Given the description of an element on the screen output the (x, y) to click on. 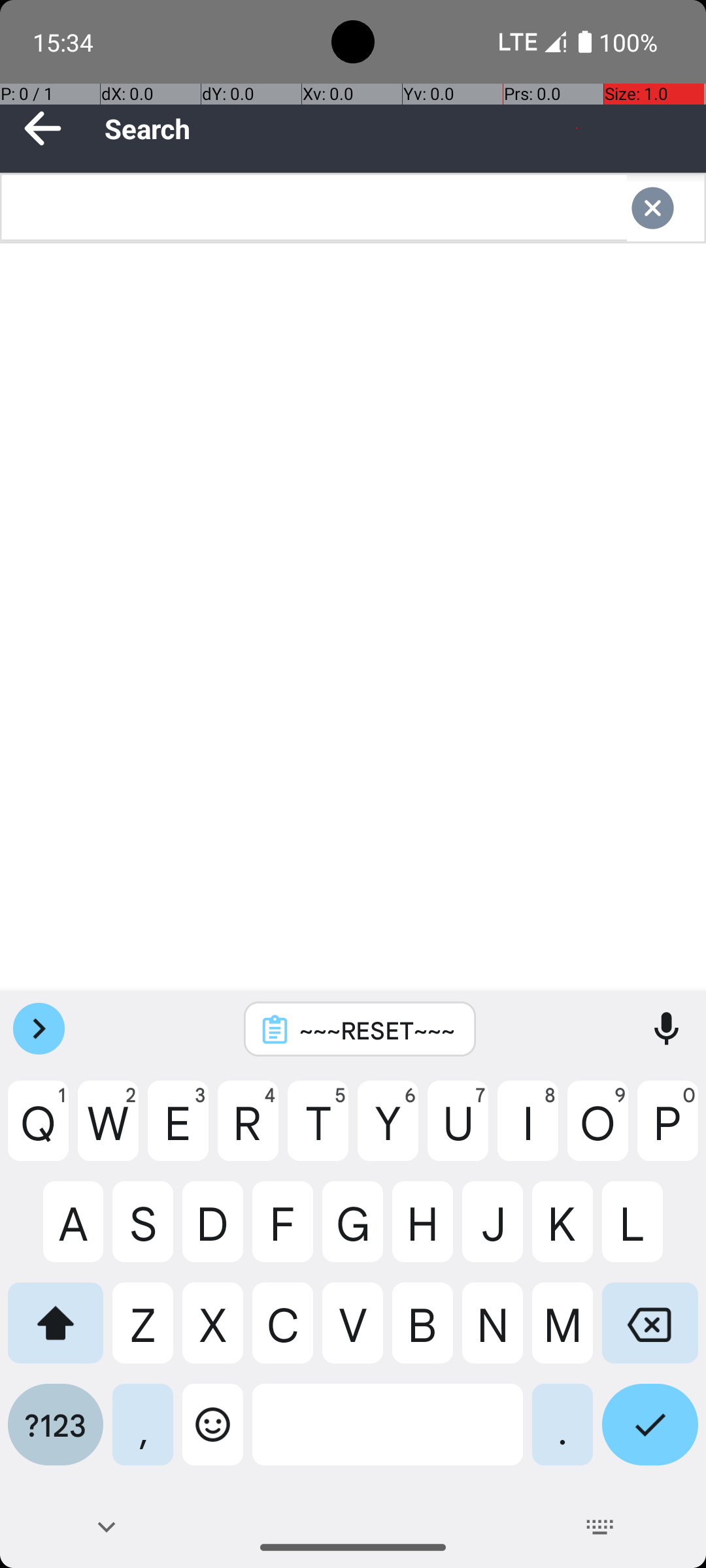
 Element type: android.widget.TextView (665, 207)
